Given the description of an element on the screen output the (x, y) to click on. 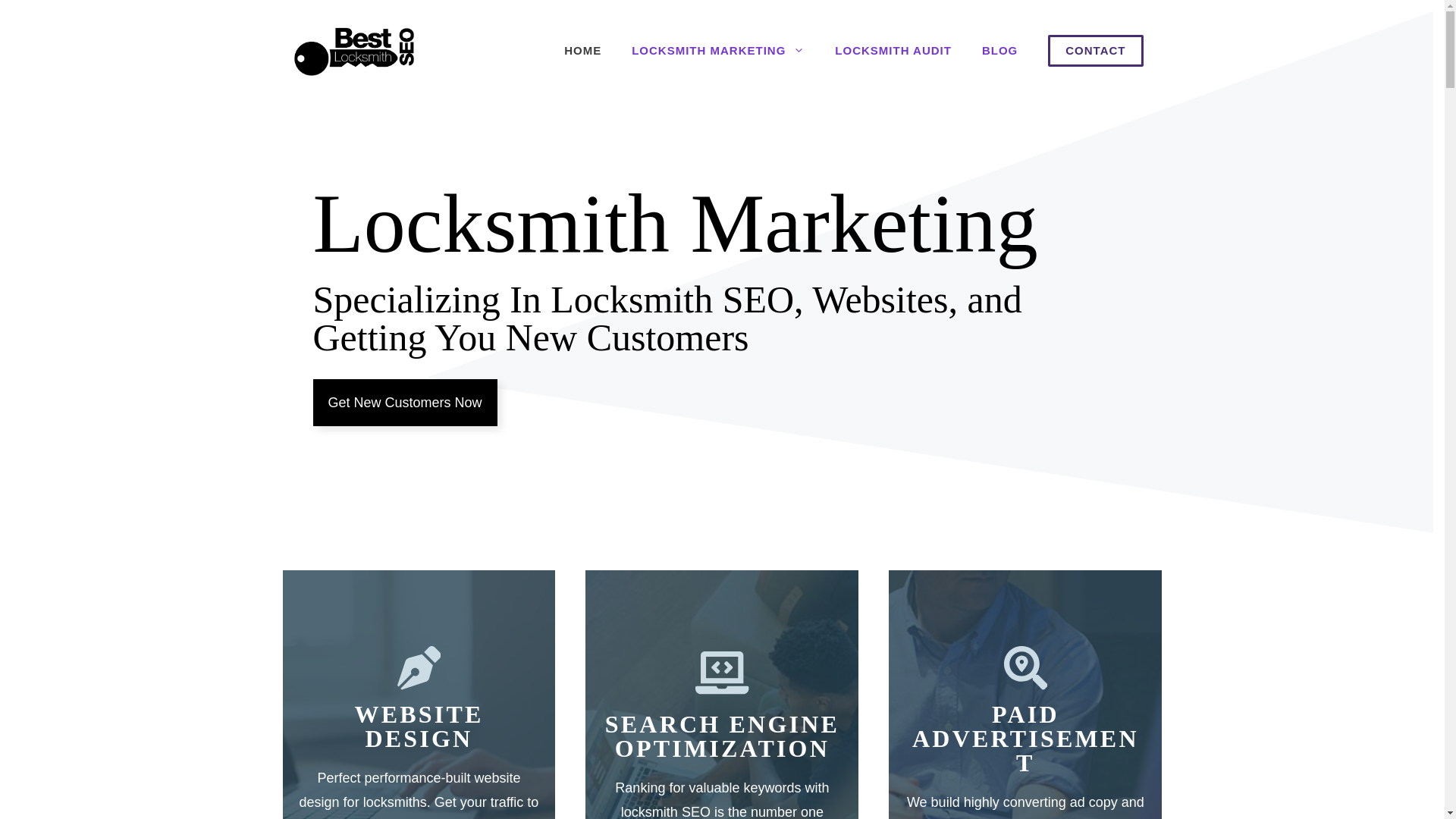
Best Locksmith SEO (354, 49)
LOCKSMITH MARKETING (717, 50)
LOCKSMITH AUDIT (892, 50)
Get New Customers Now (404, 402)
CONTACT (1095, 50)
HOME (581, 50)
BLOG (999, 50)
Best Locksmith SEO (354, 50)
